Given the description of an element on the screen output the (x, y) to click on. 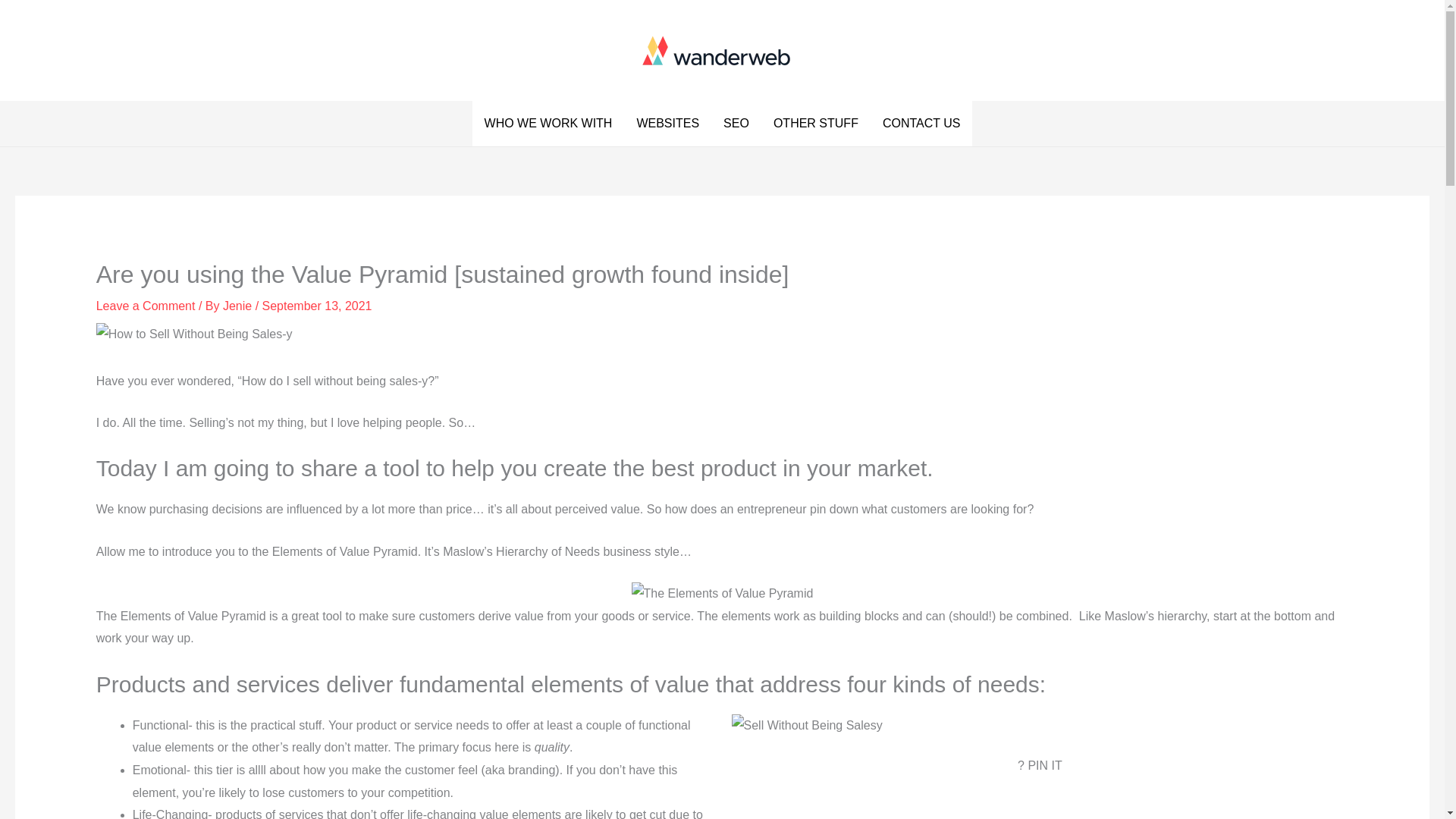
WEBSITES (667, 123)
WHO WE WORK WITH (547, 123)
SEO (736, 123)
OTHER STUFF (815, 123)
View all posts by Jenie (239, 305)
CONTACT US (921, 123)
